Given the description of an element on the screen output the (x, y) to click on. 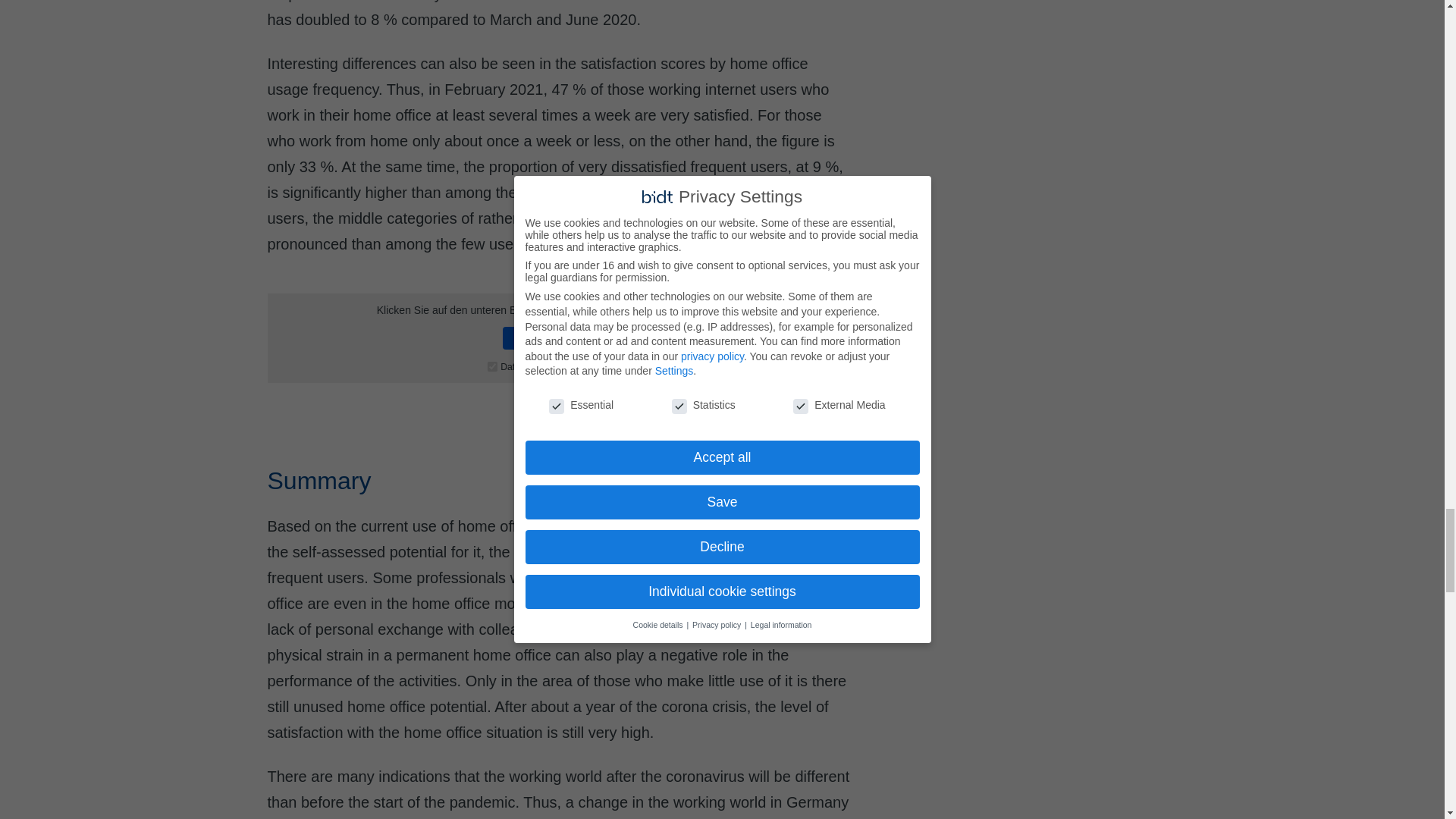
1 (492, 366)
